Given the description of an element on the screen output the (x, y) to click on. 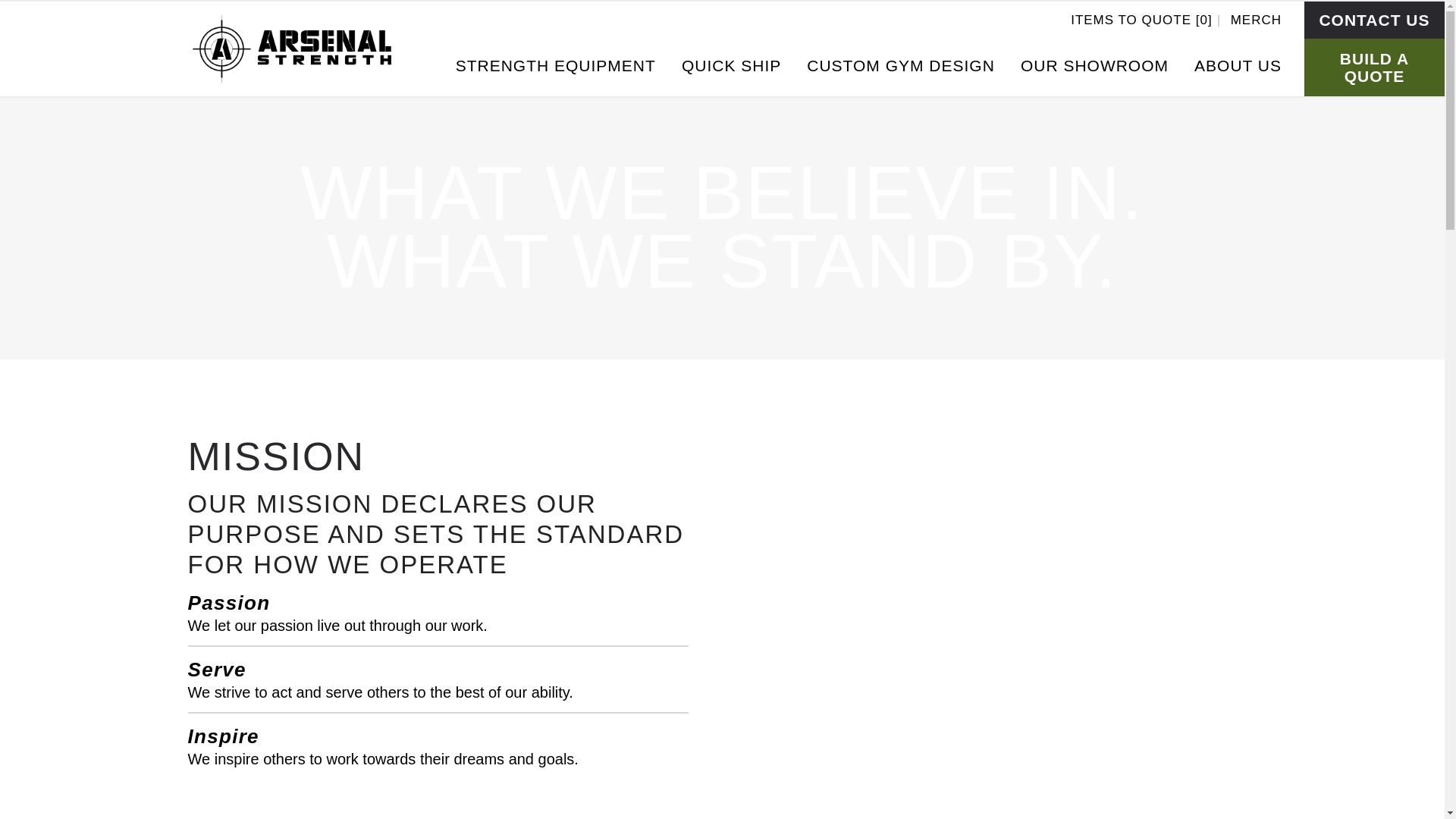
ABOUT US (1237, 64)
MERCH (1255, 19)
OUR SHOWROOM (1094, 64)
STRENGTH EQUIPMENT (555, 64)
QUICK SHIP (730, 64)
BUILD A QUOTE (1374, 67)
CUSTOM GYM DESIGN (900, 64)
CONTACT US (1374, 19)
